Given the description of an element on the screen output the (x, y) to click on. 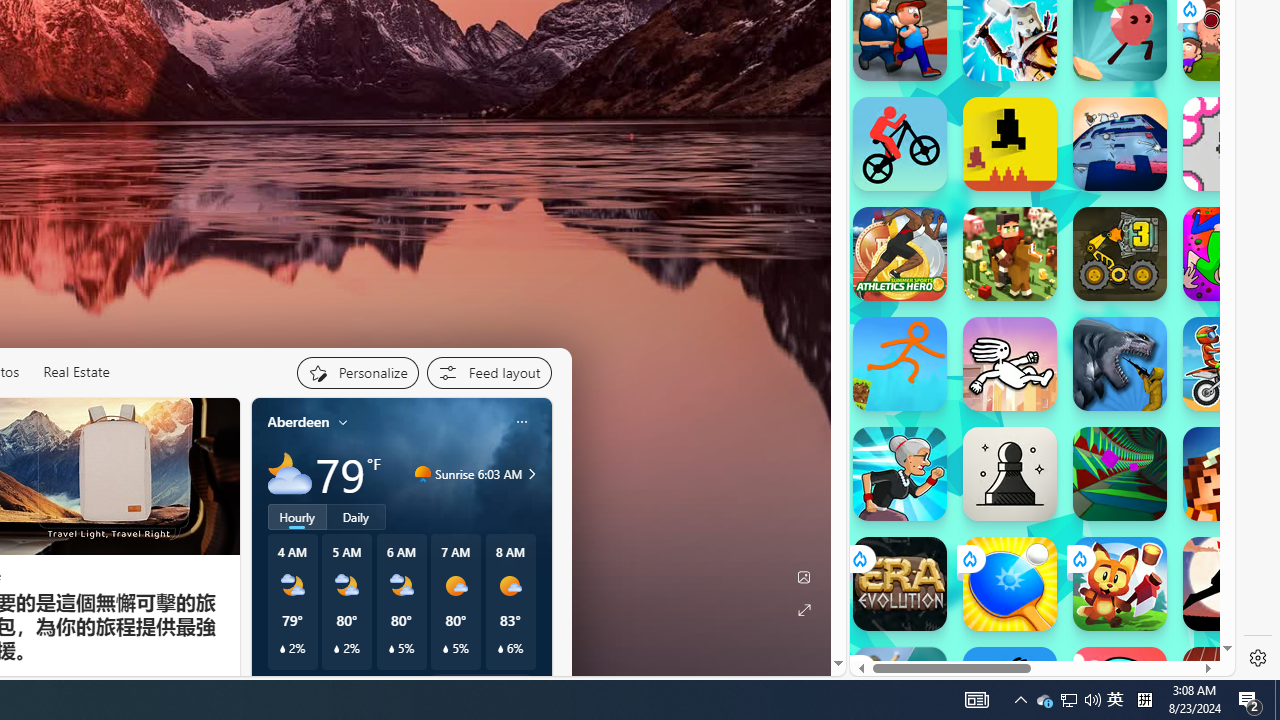
Hills of Steel (925, 324)
poki.com (1092, 373)
Expand background (803, 610)
Show More Games for Girls (1164, 30)
